Given the description of an element on the screen output the (x, y) to click on. 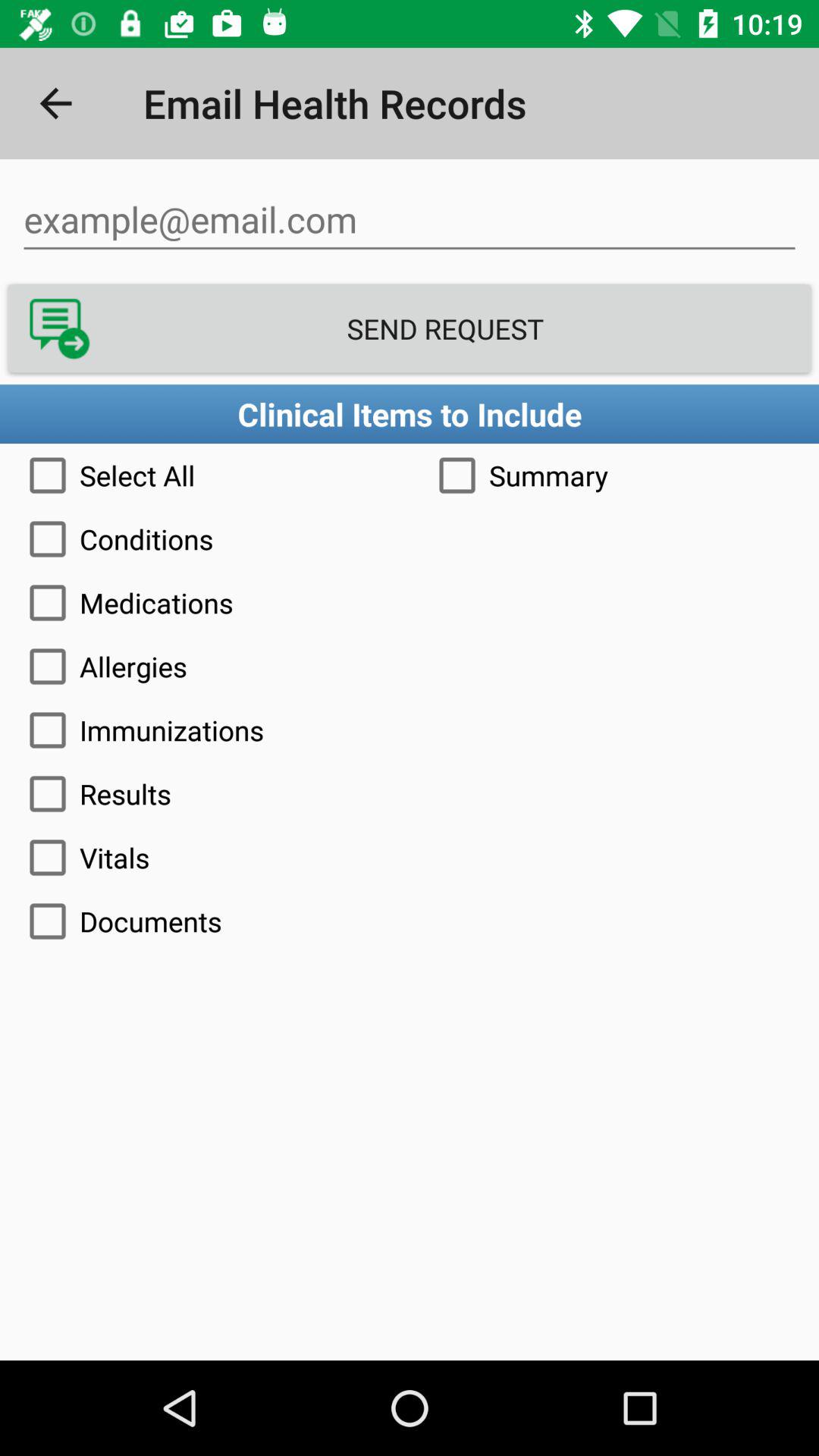
input your email address here to send a request for health records (409, 220)
